Given the description of an element on the screen output the (x, y) to click on. 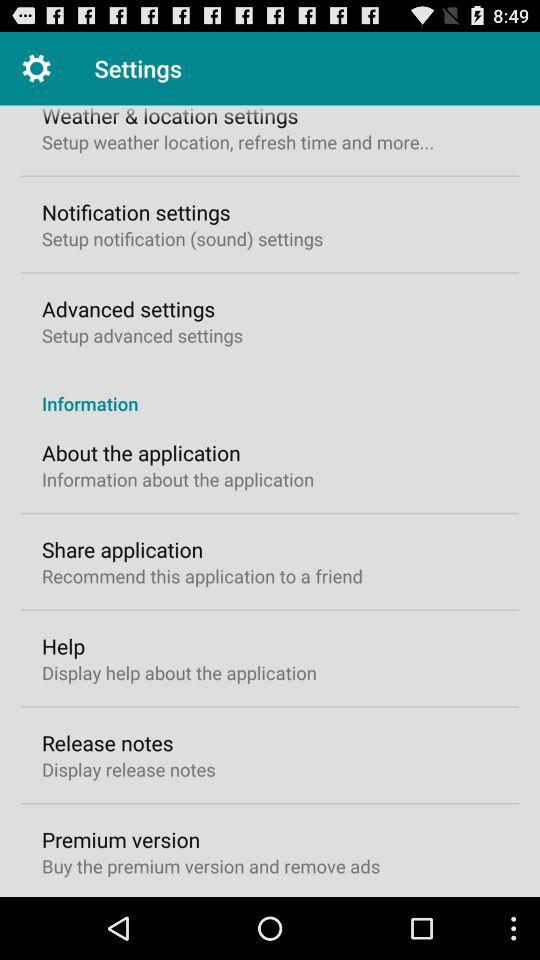
scroll until recommend this application icon (202, 575)
